Given the description of an element on the screen output the (x, y) to click on. 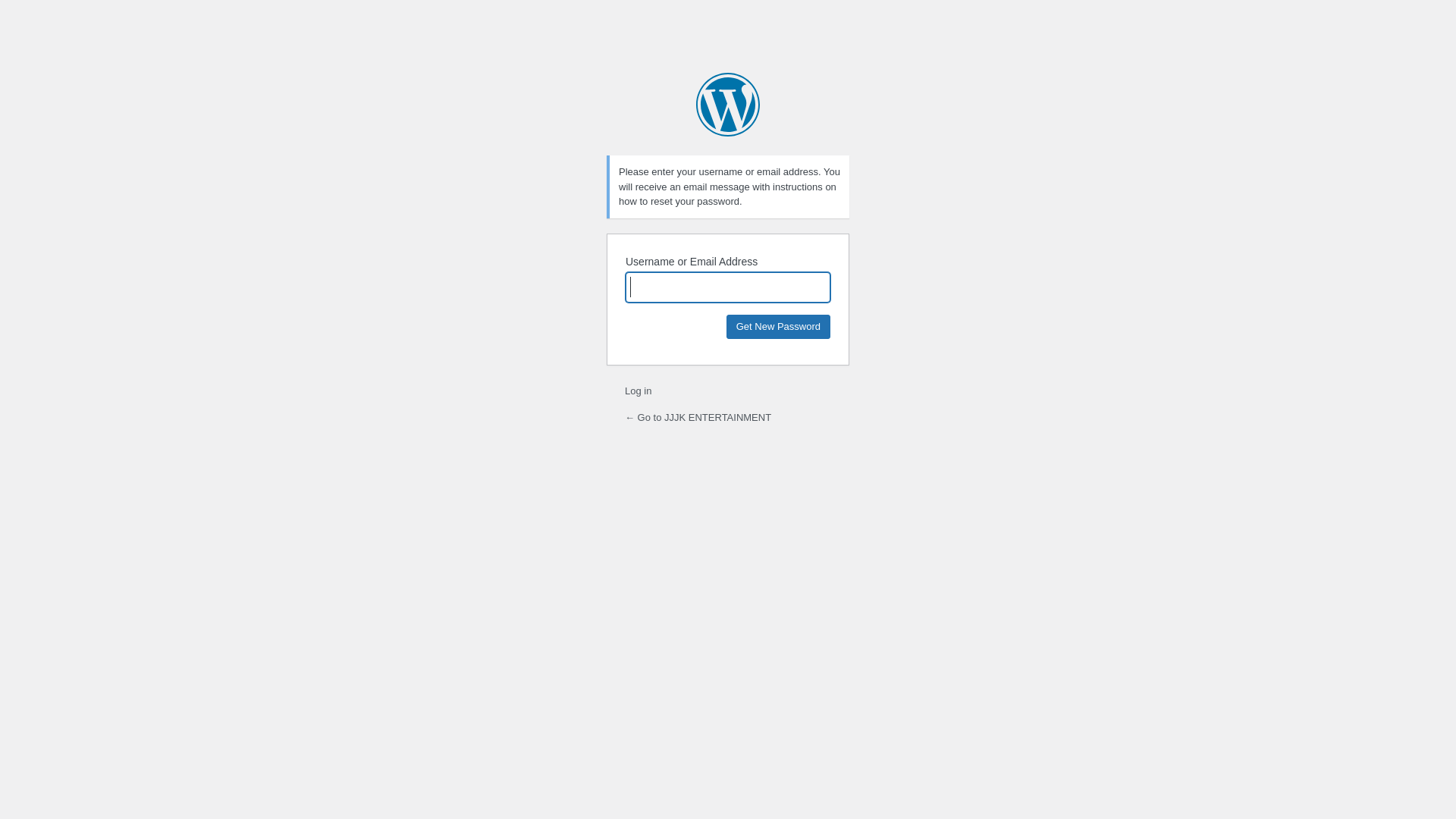
Log in Element type: text (637, 390)
Powered by WordPress Element type: text (727, 104)
Get New Password Element type: text (778, 325)
